Given the description of an element on the screen output the (x, y) to click on. 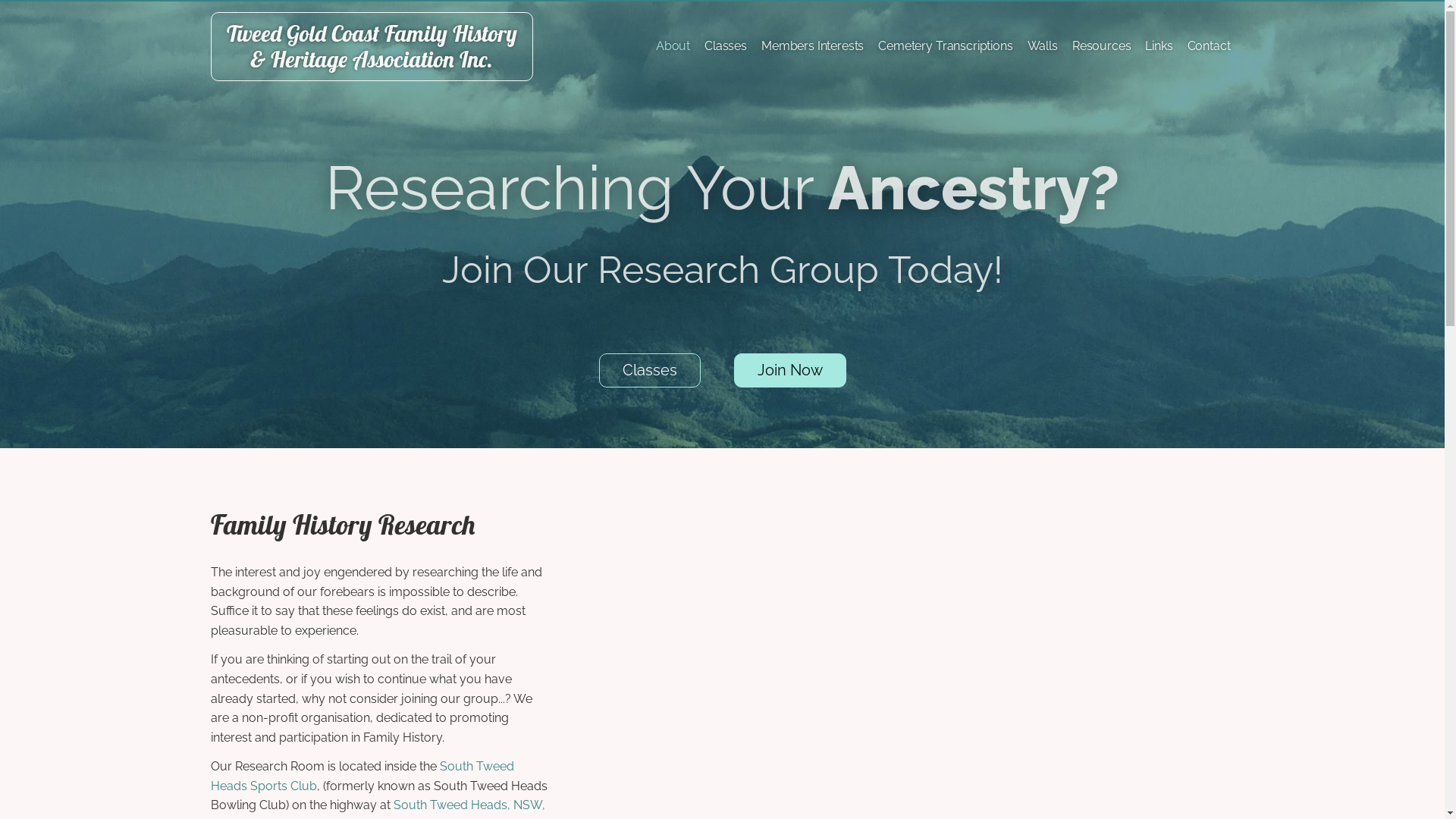
Contact Element type: text (1208, 45)
Resources Element type: text (1101, 45)
Walls Element type: text (1042, 45)
Join Now Element type: text (790, 370)
Classes Element type: text (649, 370)
About Element type: text (672, 45)
Cemetery Transcriptions Element type: text (945, 45)
Members Interests Element type: text (812, 45)
Tweed Gold Coast Family History
& Heritage Association Inc. Element type: text (371, 46)
Classes Element type: text (725, 45)
South Tweed Heads Sports Club Element type: text (362, 776)
Links Element type: text (1158, 45)
